Given the description of an element on the screen output the (x, y) to click on. 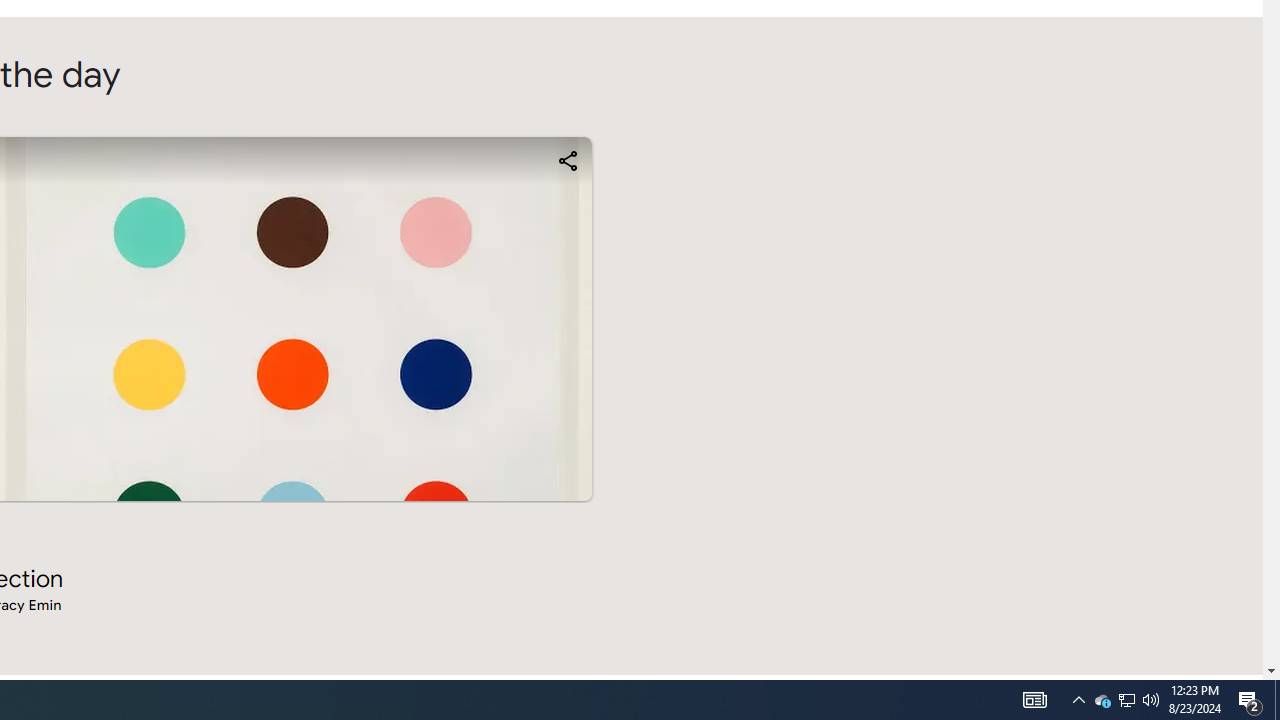
Share "Get to Know the Young British Artists" (566, 160)
